Given the description of an element on the screen output the (x, y) to click on. 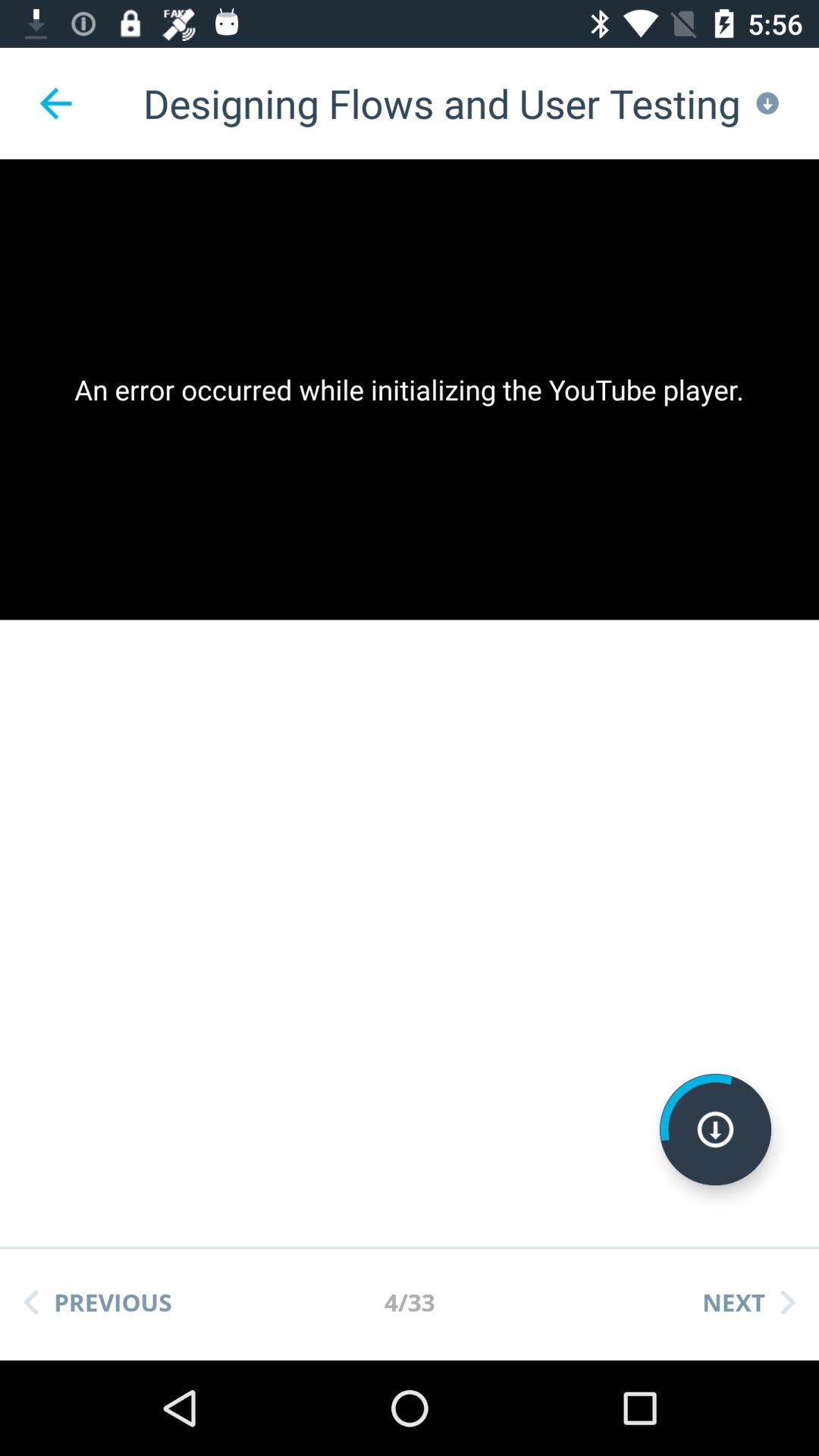
click the item next to the 4/33 (748, 1302)
